Given the description of an element on the screen output the (x, y) to click on. 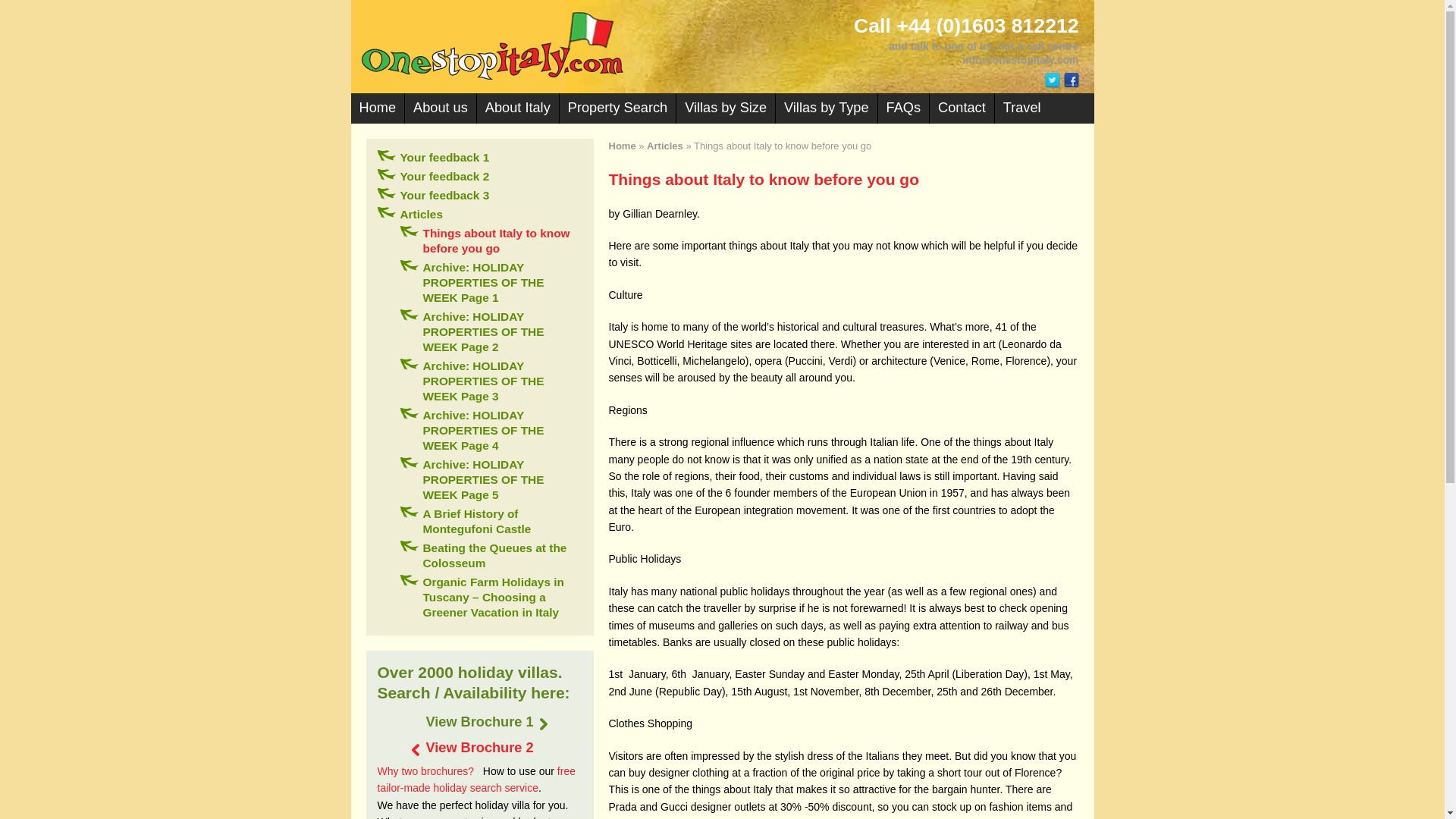
Our free tailor-made holiday search service (476, 778)
One Stop Italy (721, 45)
